Given the description of an element on the screen output the (x, y) to click on. 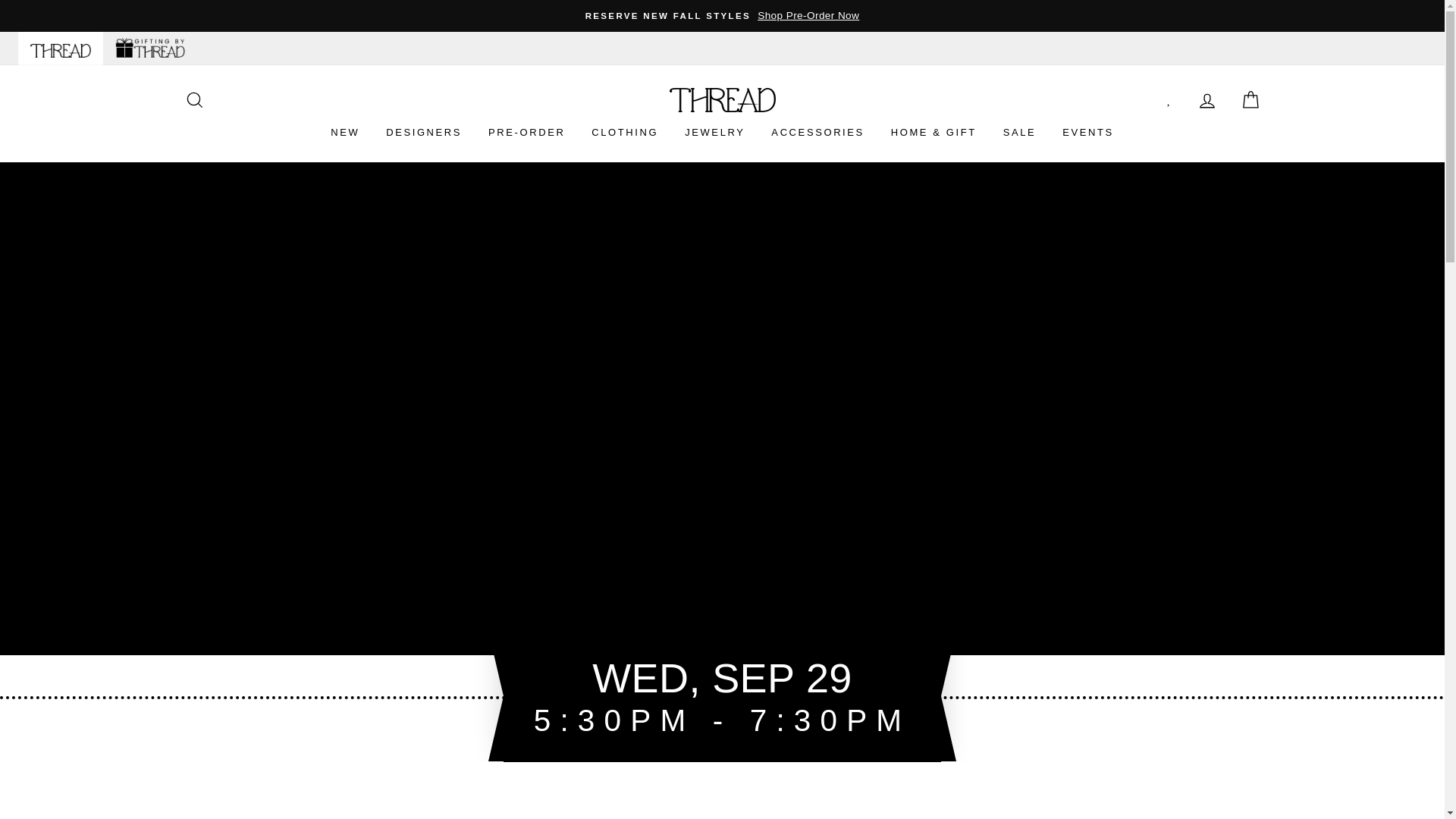
Gifting by THREAD (149, 48)
Shop THREAD Online (60, 48)
